Given the description of an element on the screen output the (x, y) to click on. 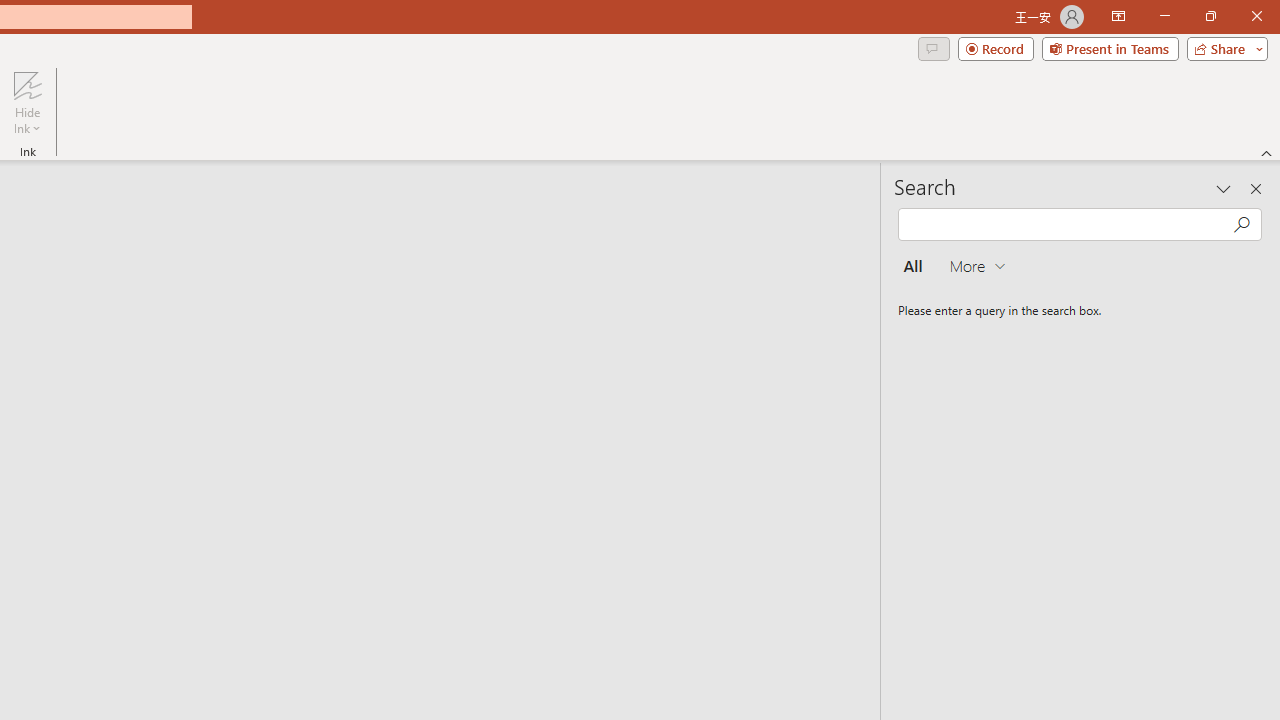
Task Pane Options (1224, 188)
Restore Down (1210, 16)
Share (1223, 48)
Hide Ink (27, 102)
Hide Ink (27, 84)
Ribbon Display Options (1118, 16)
Minimize (1164, 16)
Present in Teams (1109, 48)
Collapse the Ribbon (1267, 152)
Close pane (1256, 188)
